Given the description of an element on the screen output the (x, y) to click on. 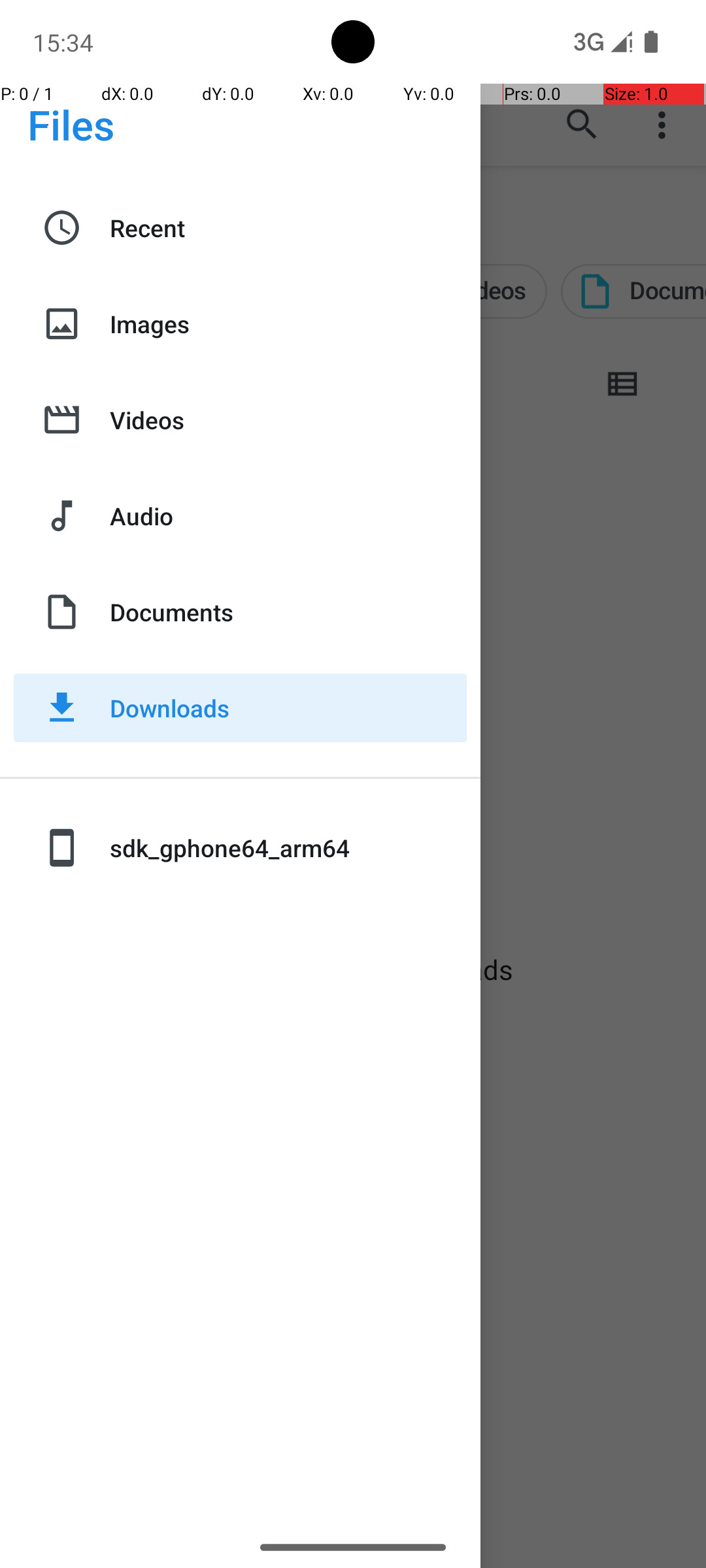
Files Element type: android.widget.TextView (70, 124)
Images Element type: android.widget.TextView (287, 323)
Videos Element type: android.widget.TextView (287, 419)
Audio Element type: android.widget.TextView (287, 515)
Documents Element type: android.widget.TextView (287, 611)
Downloads Element type: android.widget.TextView (287, 707)
sdk_gphone64_arm64 Element type: android.widget.TextView (287, 847)
